Given the description of an element on the screen output the (x, y) to click on. 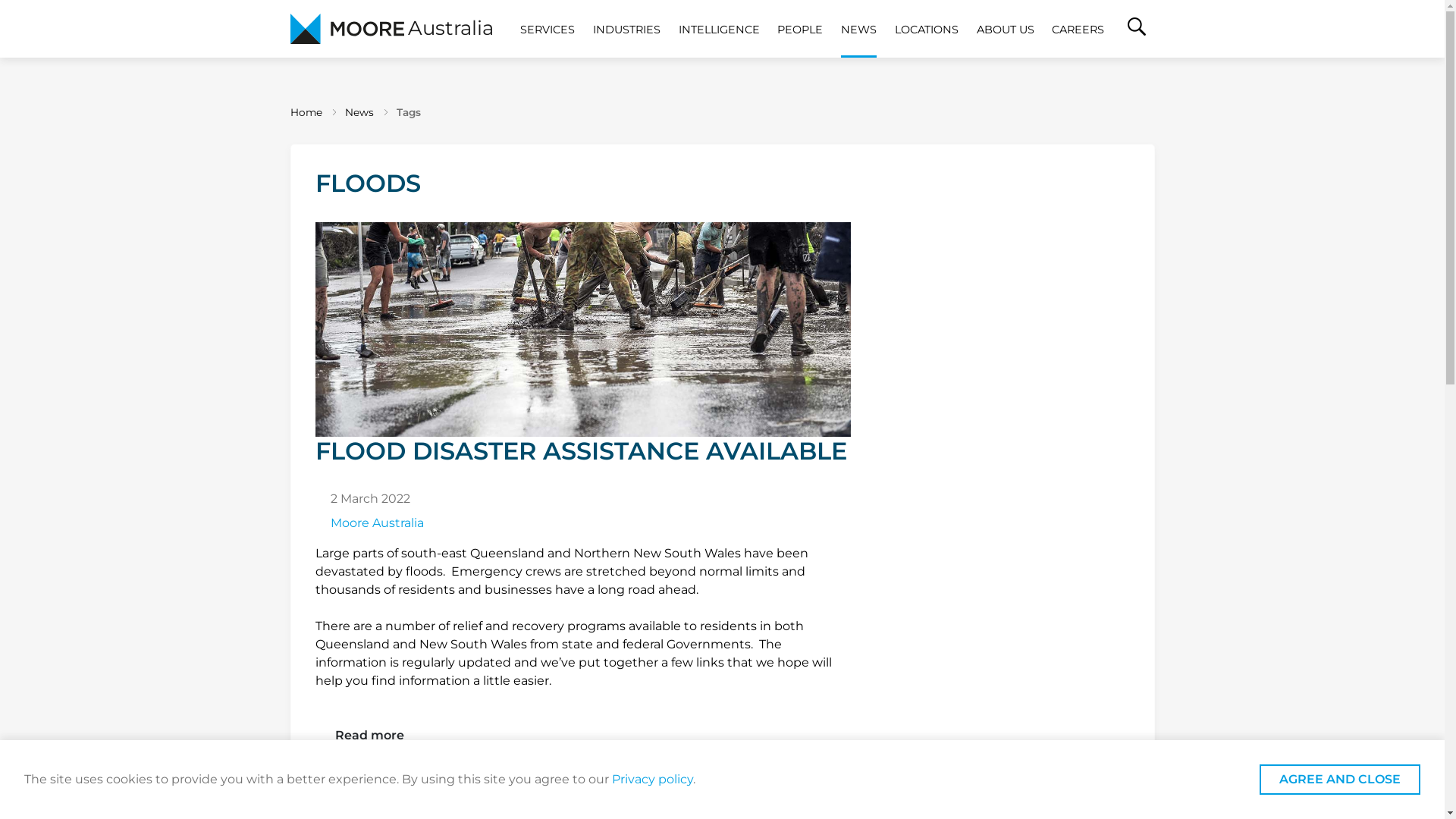
SERVICES Element type: text (547, 28)
Home Element type: text (305, 112)
PEOPLE Element type: text (799, 28)
NEWS Element type: text (858, 28)
News Element type: text (358, 112)
Read more Element type: text (369, 735)
SEARCH Element type: text (1136, 28)
Australia Element type: text (390, 28)
INDUSTRIES Element type: text (626, 28)
FLOOD DISASTER ASSISTANCE AVAILABLE Element type: text (582, 343)
Privacy policy Element type: text (652, 778)
Agree and close Element type: text (1339, 779)
Moore Australia Element type: text (376, 522)
ABOUT US Element type: text (1005, 28)
LOCATIONS Element type: text (926, 28)
CAREERS Element type: text (1077, 28)
INTELLIGENCE Element type: text (718, 28)
